Given the description of an element on the screen output the (x, y) to click on. 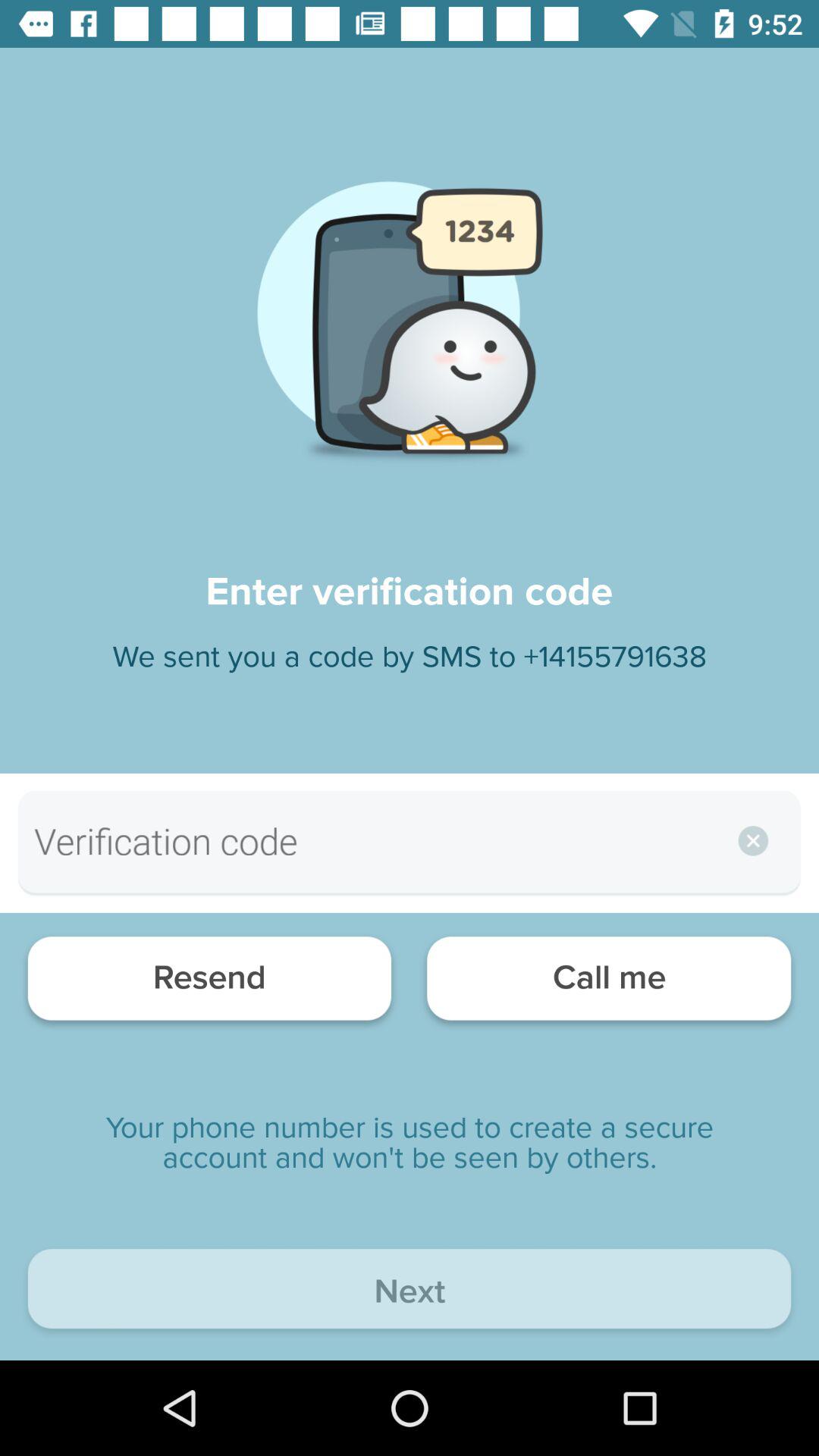
press the item to the left of the call me item (209, 982)
